Given the description of an element on the screen output the (x, y) to click on. 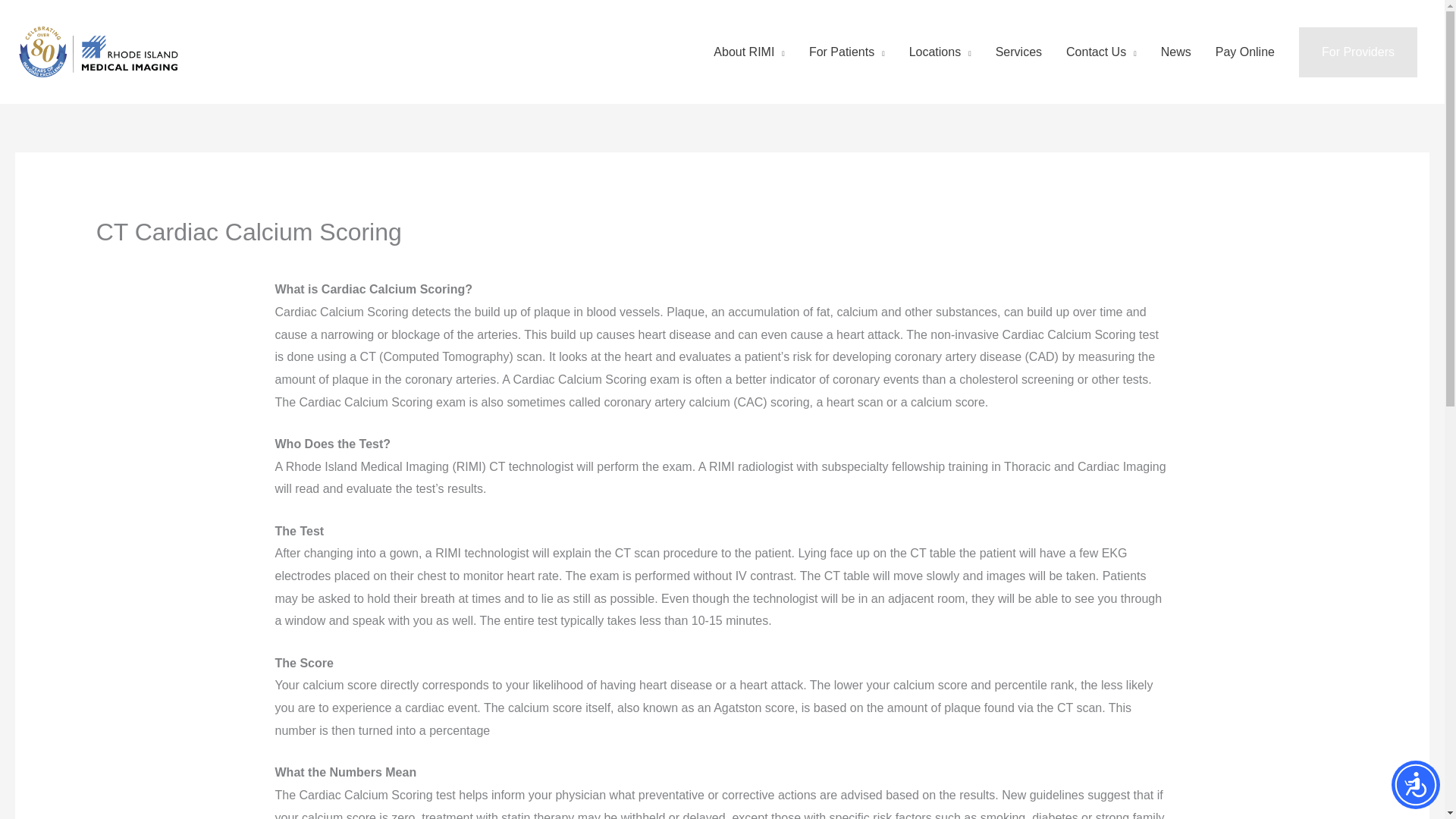
About RIMI (748, 51)
For Patients (846, 51)
Accessibility Menu (1415, 784)
Locations (940, 51)
